Given the description of an element on the screen output the (x, y) to click on. 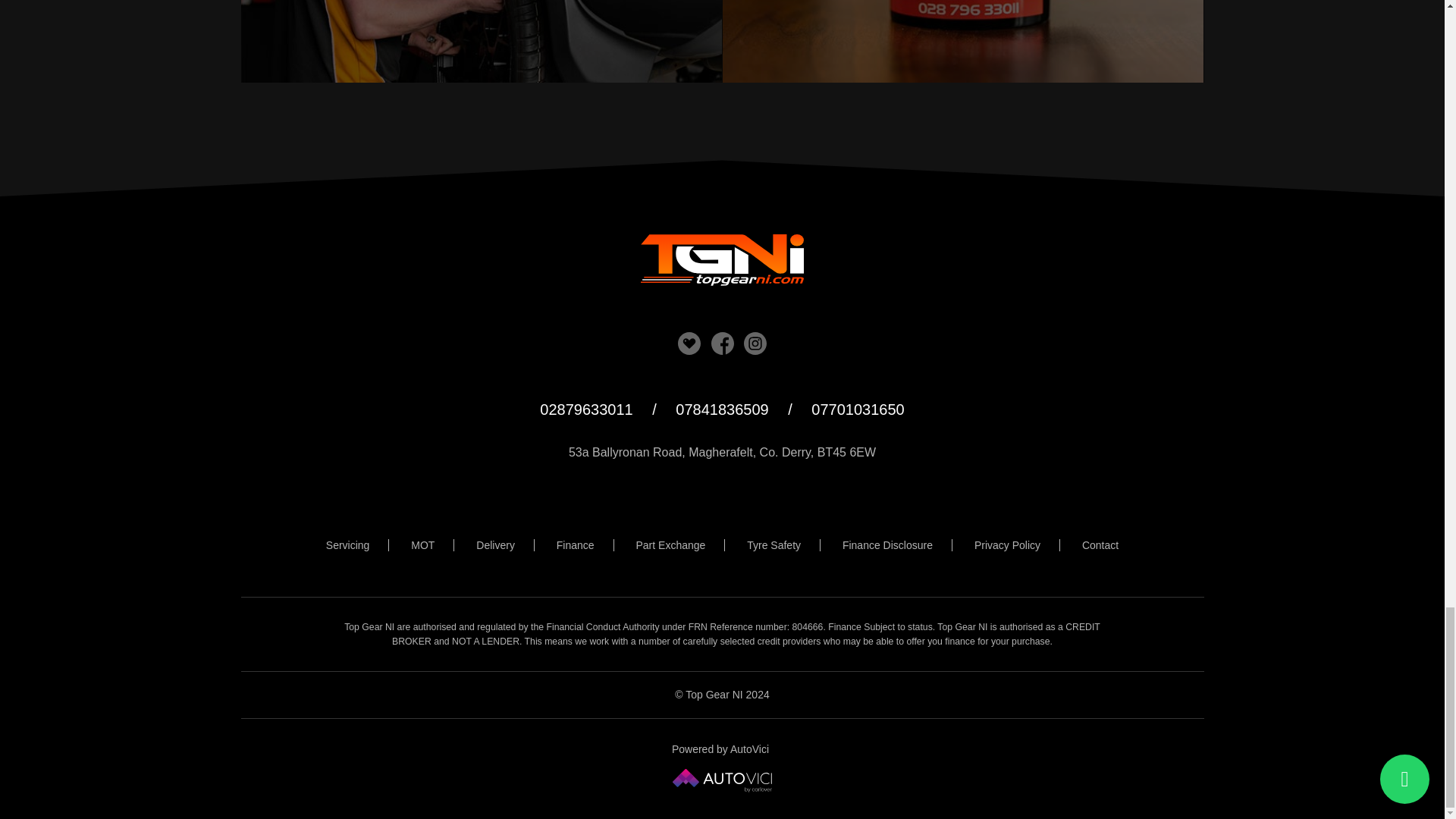
Servicing (348, 544)
MOT (422, 544)
02879633011 (585, 409)
Check us out on Facebook (481, 41)
07841836509 (722, 343)
07701031650 (721, 409)
Check us out on Instagram (963, 41)
View our stock on Carlover (857, 409)
53a Ballyronan Road, Magherafelt, Co. Derry, BT45 6EW (755, 343)
